Given the description of an element on the screen output the (x, y) to click on. 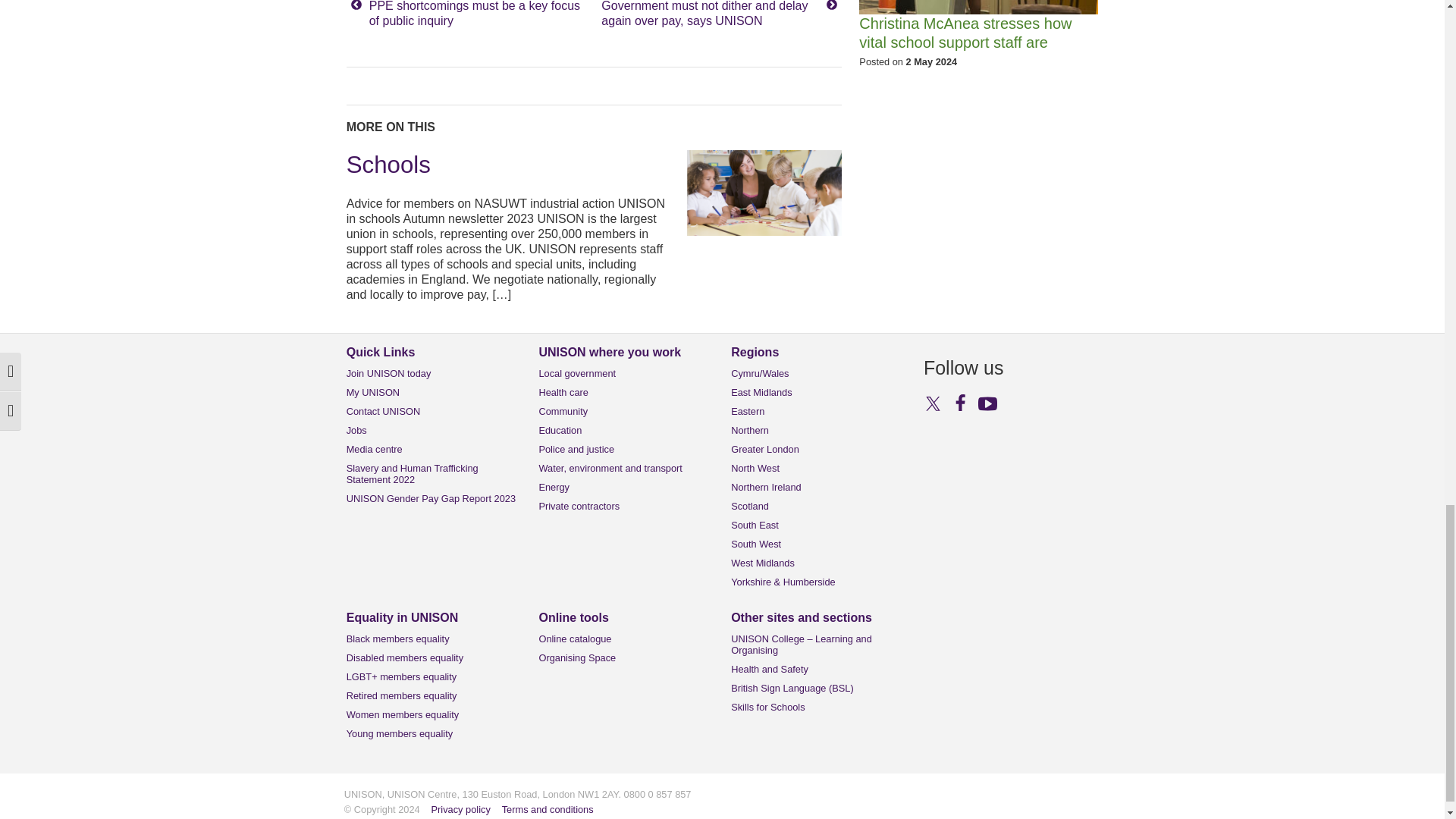
Facebook (959, 402)
Youtube (987, 402)
Twitter (932, 402)
